Given the description of an element on the screen output the (x, y) to click on. 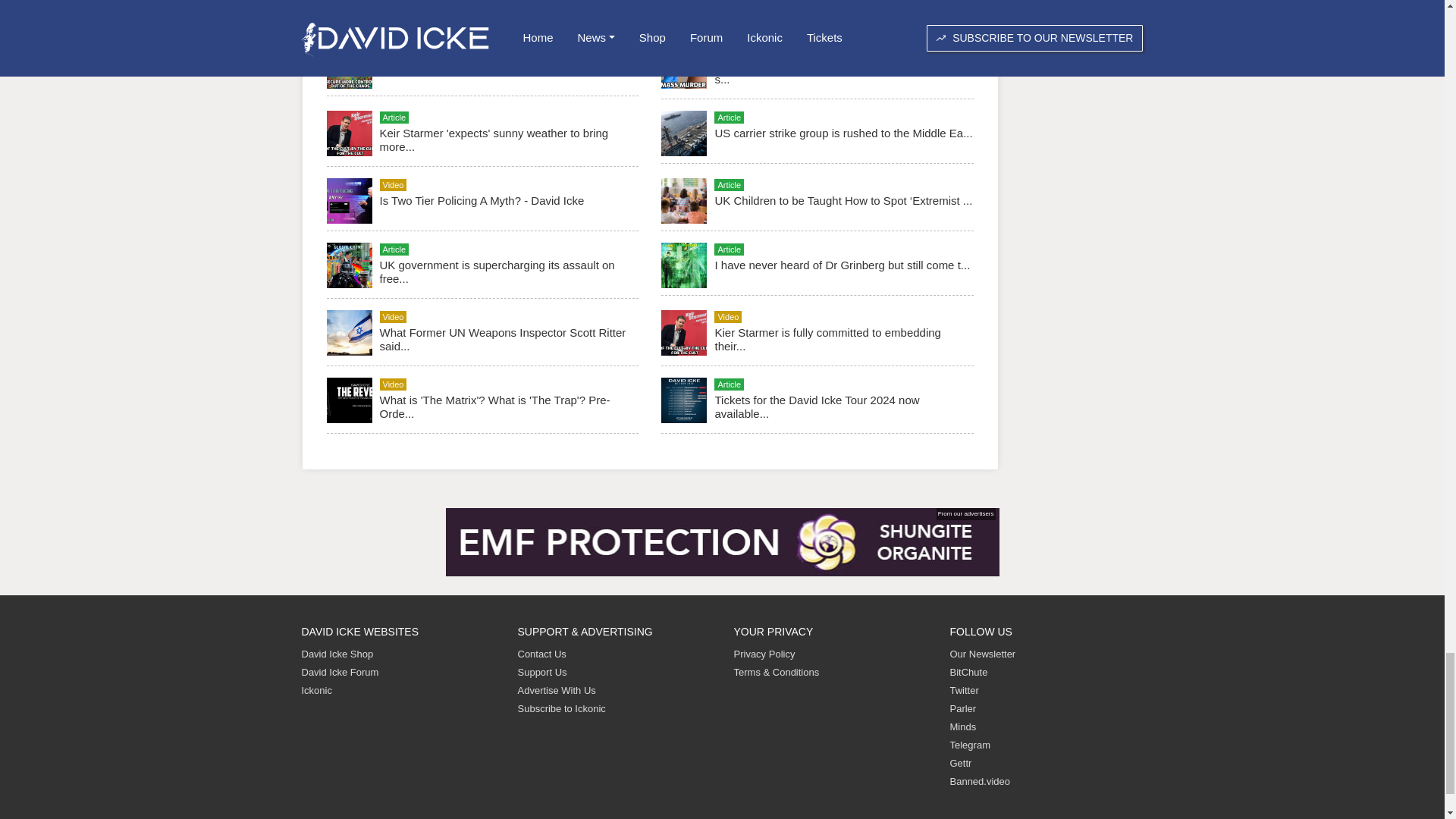
Kamala Harris Picks Tim Walz As Her VP - David Icke Reacts (502, 9)
Counteracting Cult Imposed Chaos (467, 65)
